Given the description of an element on the screen output the (x, y) to click on. 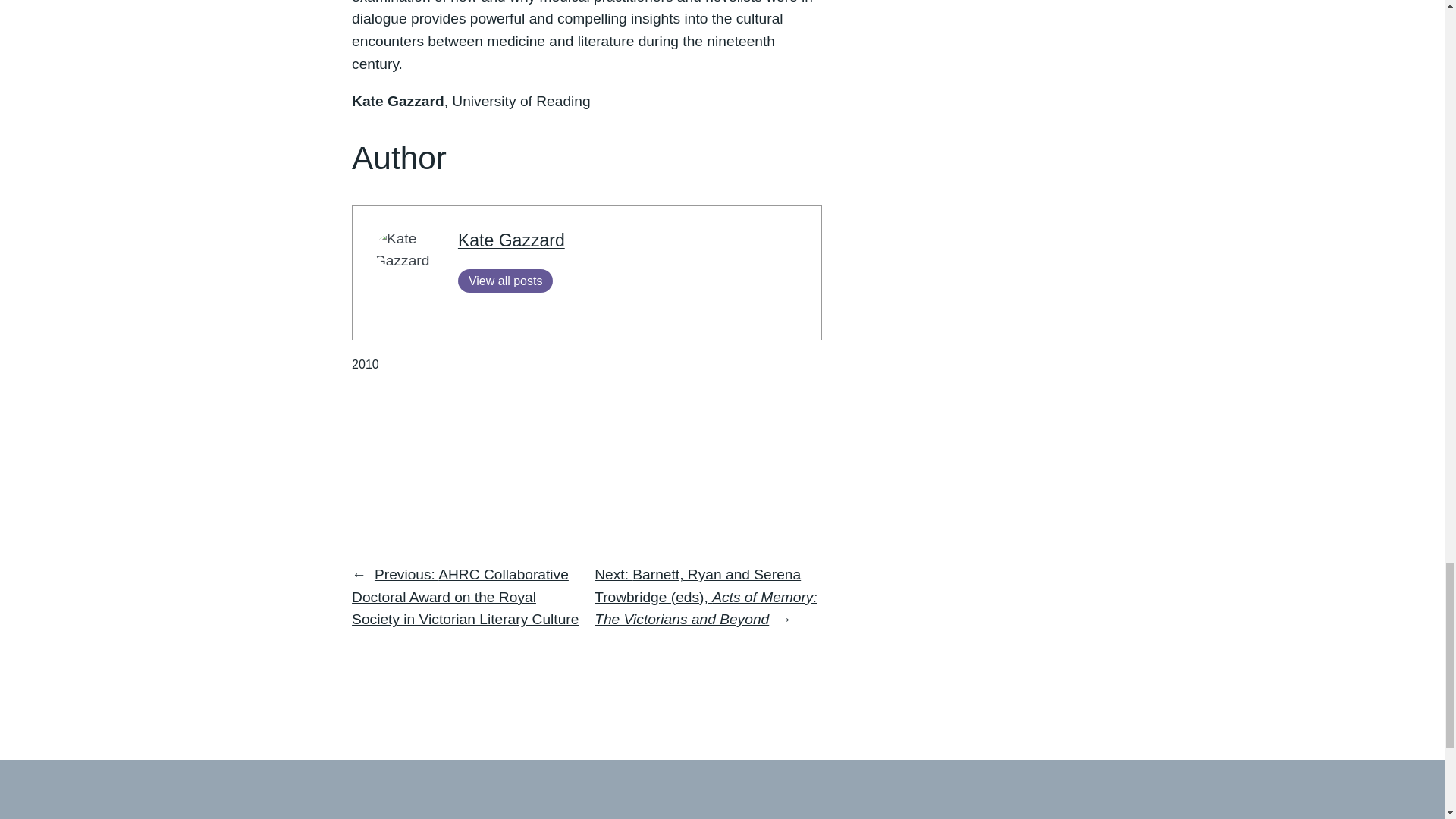
Kate Gazzard (511, 240)
2010 (365, 364)
Kate Gazzard (511, 240)
View all posts (505, 280)
